Given the description of an element on the screen output the (x, y) to click on. 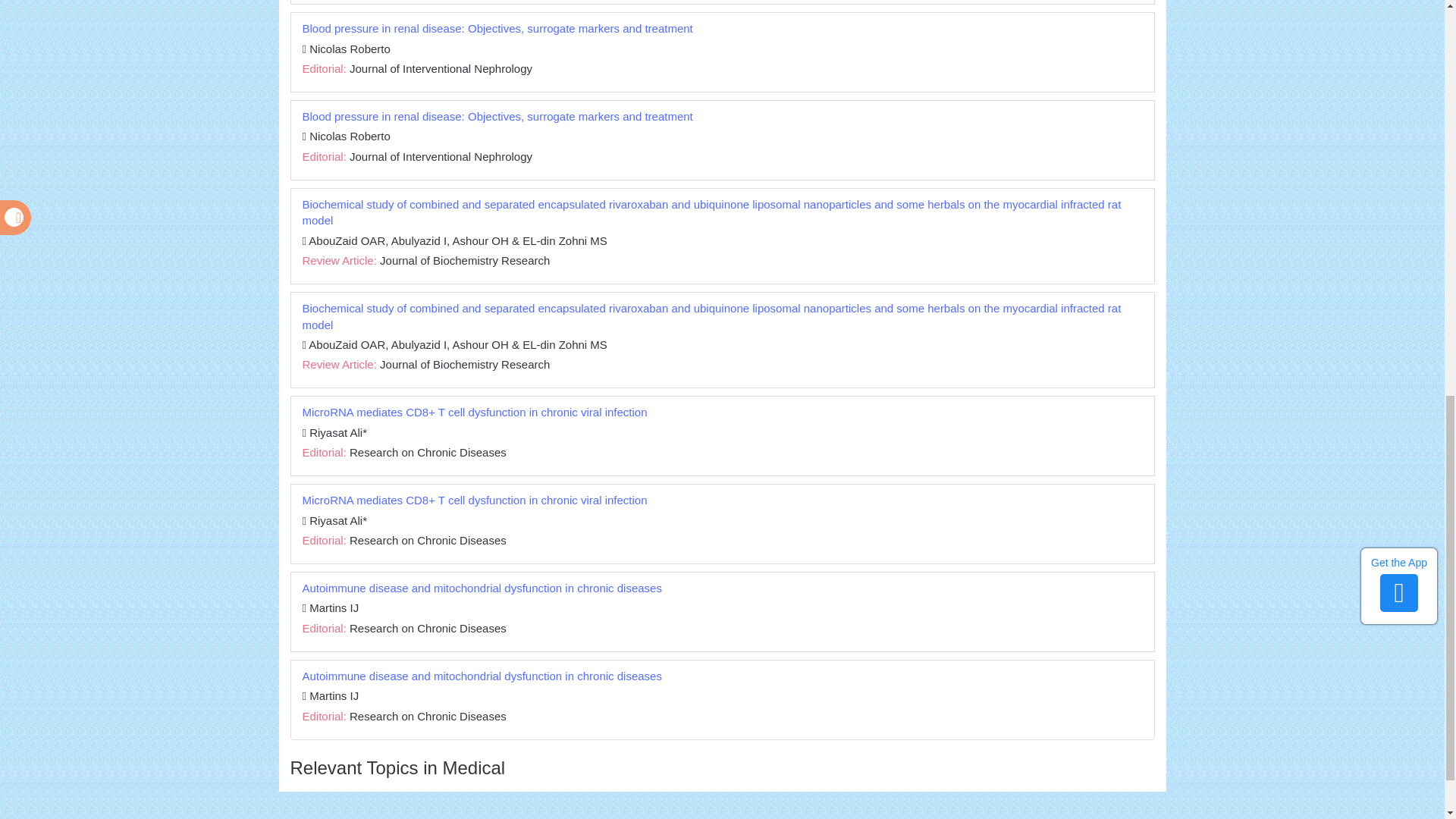
Journal of Interventional Nephrology (440, 155)
Journal of Interventional Nephrology (440, 68)
Journal of Biochemistry Research (465, 259)
